Given the description of an element on the screen output the (x, y) to click on. 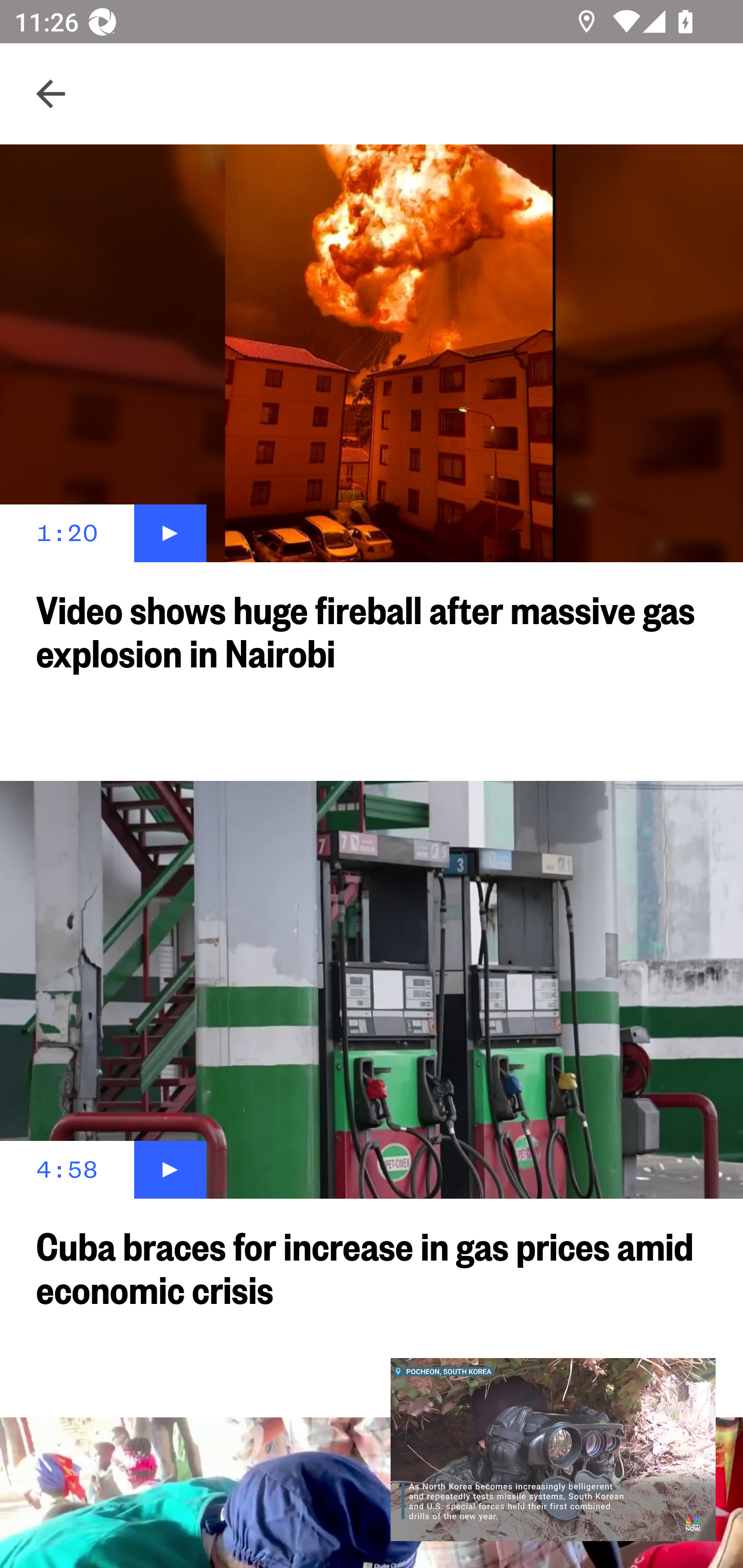
Navigate up (50, 93)
